Given the description of an element on the screen output the (x, y) to click on. 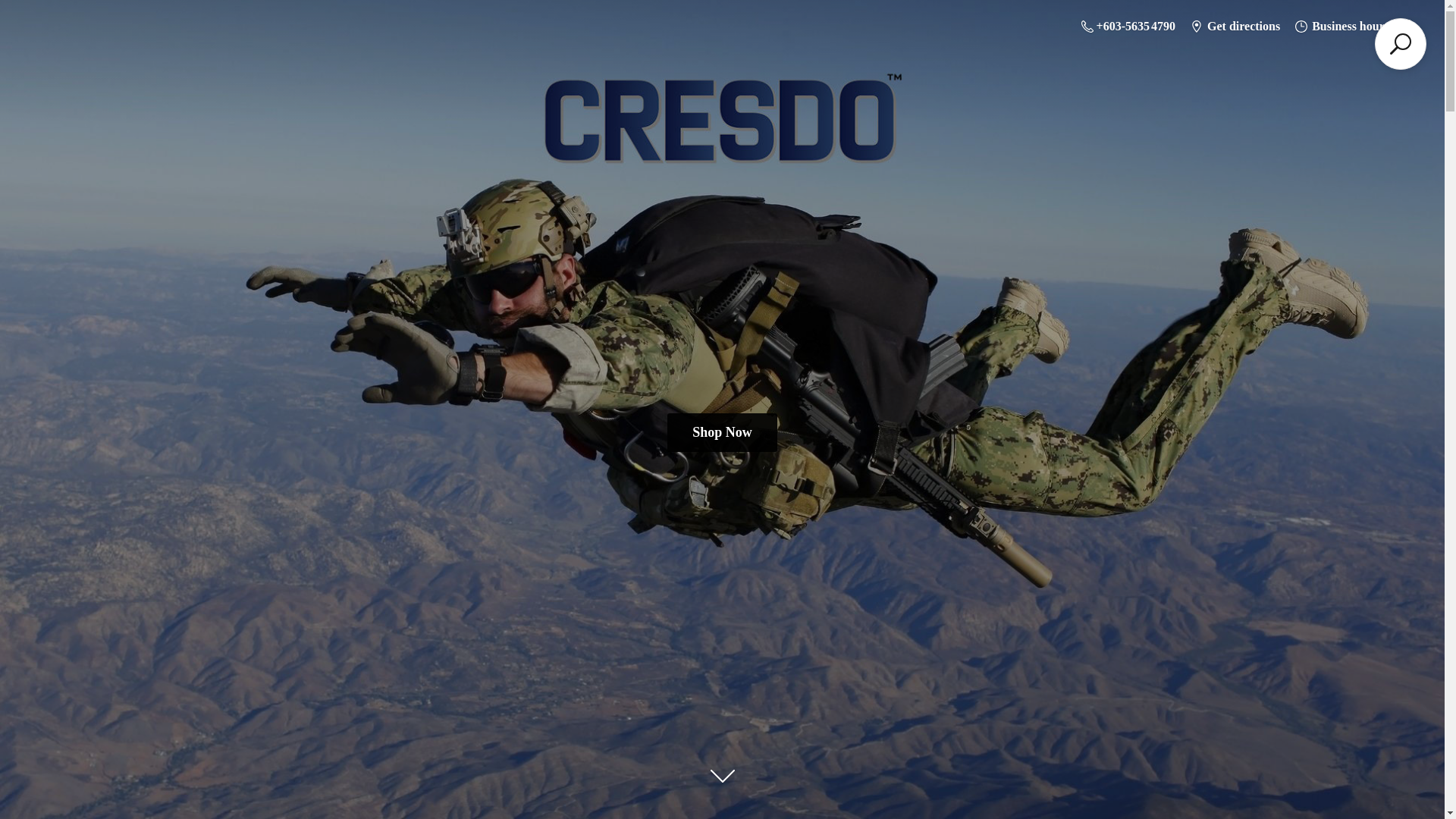
Get directions (1234, 26)
Shop Now (721, 432)
Business hours (1341, 26)
